Given the description of an element on the screen output the (x, y) to click on. 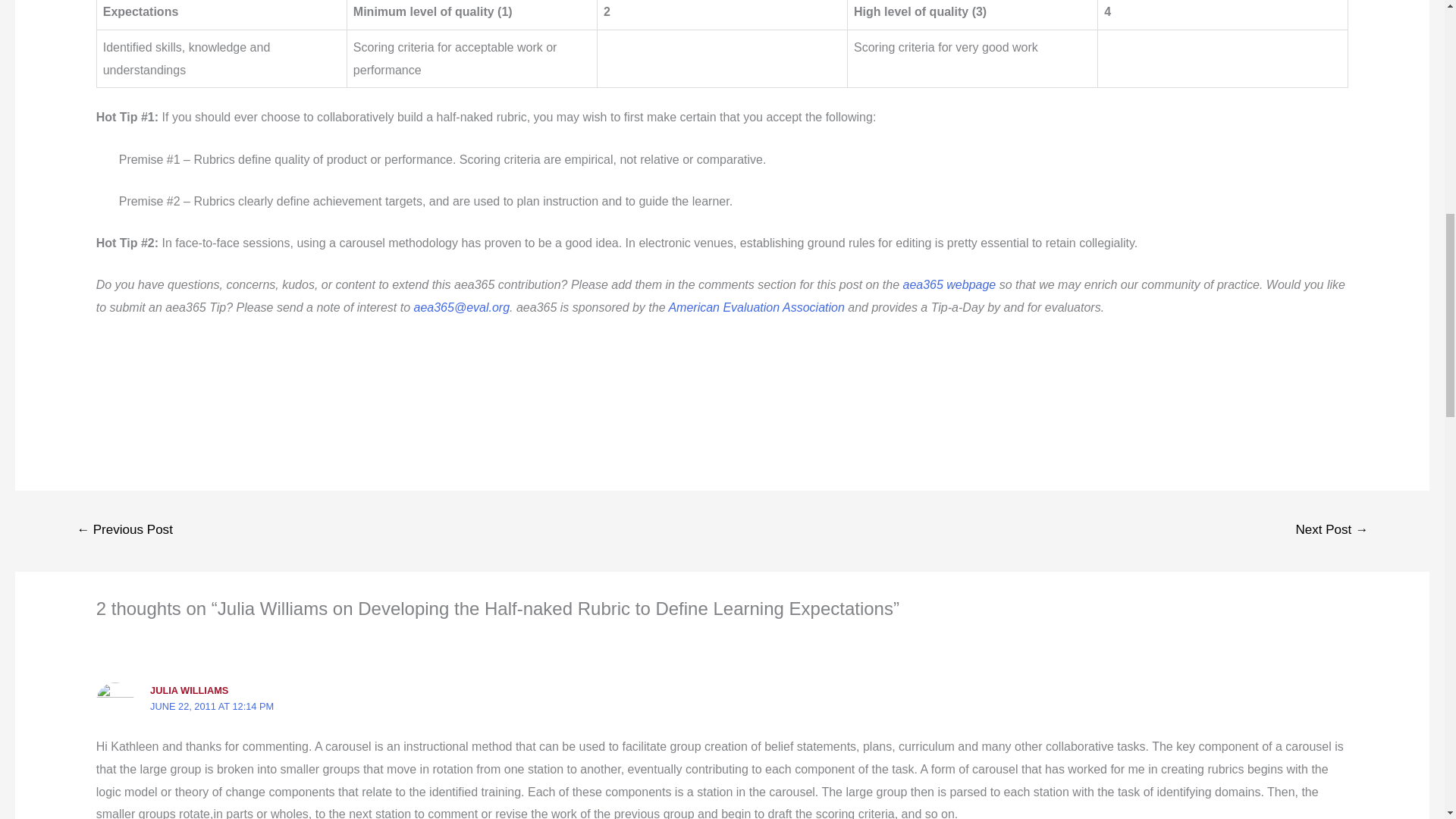
American Evaluation Association (754, 307)
JUNE 22, 2011 AT 12:14 PM (211, 706)
aea365 webpage (947, 284)
